Given the description of an element on the screen output the (x, y) to click on. 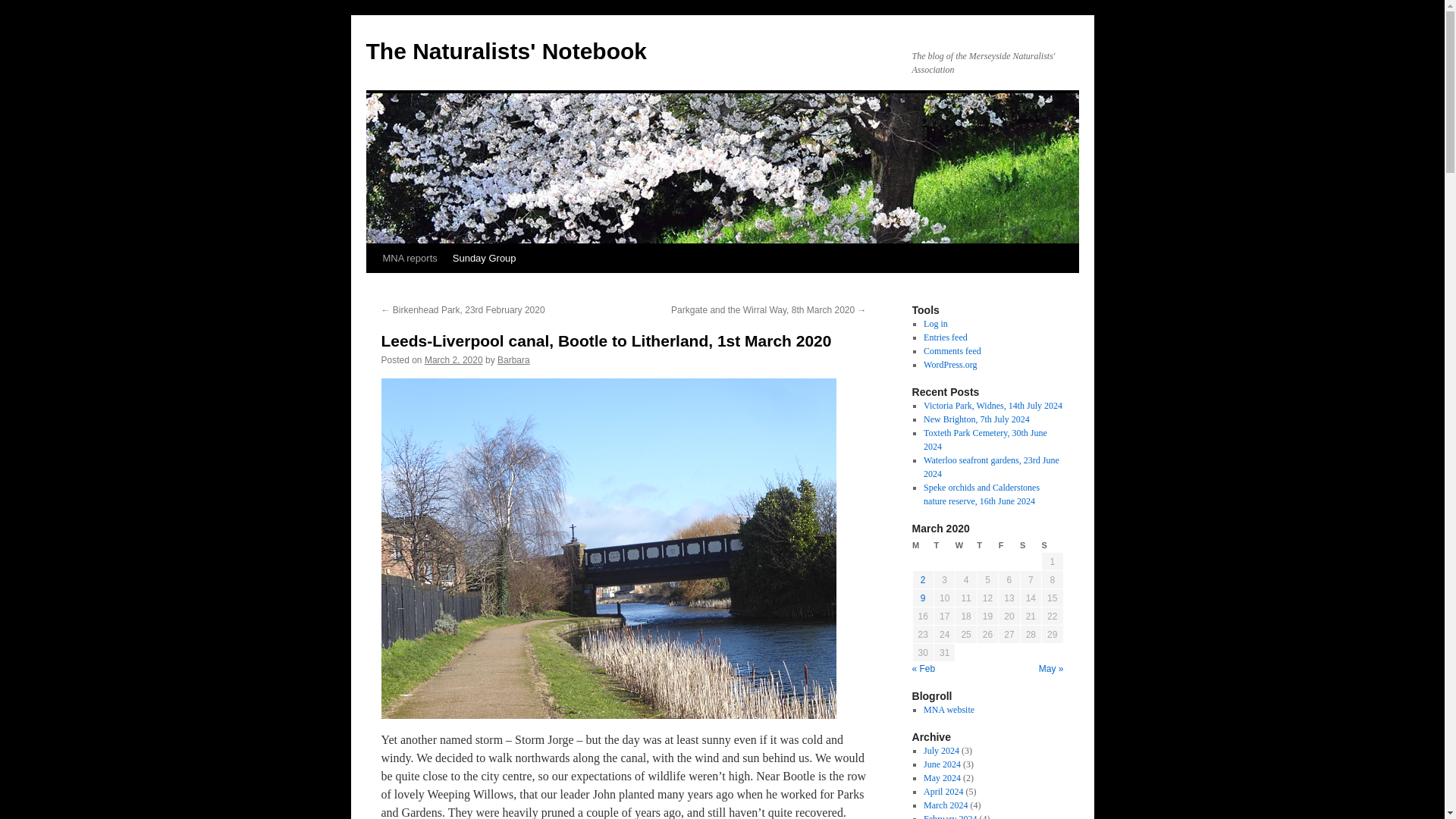
Tuesday (944, 545)
New Brighton, 7th July 2024 (976, 419)
May 2024 (941, 777)
February 2024 (949, 816)
MNA website (948, 709)
Wednesday (965, 545)
MNA reports (409, 258)
Victoria Park, Widnes, 14th July 2024 (992, 405)
The Naturalists' Notebook (505, 50)
March 2024 (945, 805)
Monday (922, 545)
View all posts by Barbara (513, 359)
June 2024 (941, 764)
March 2, 2020 (454, 359)
